Given the description of an element on the screen output the (x, y) to click on. 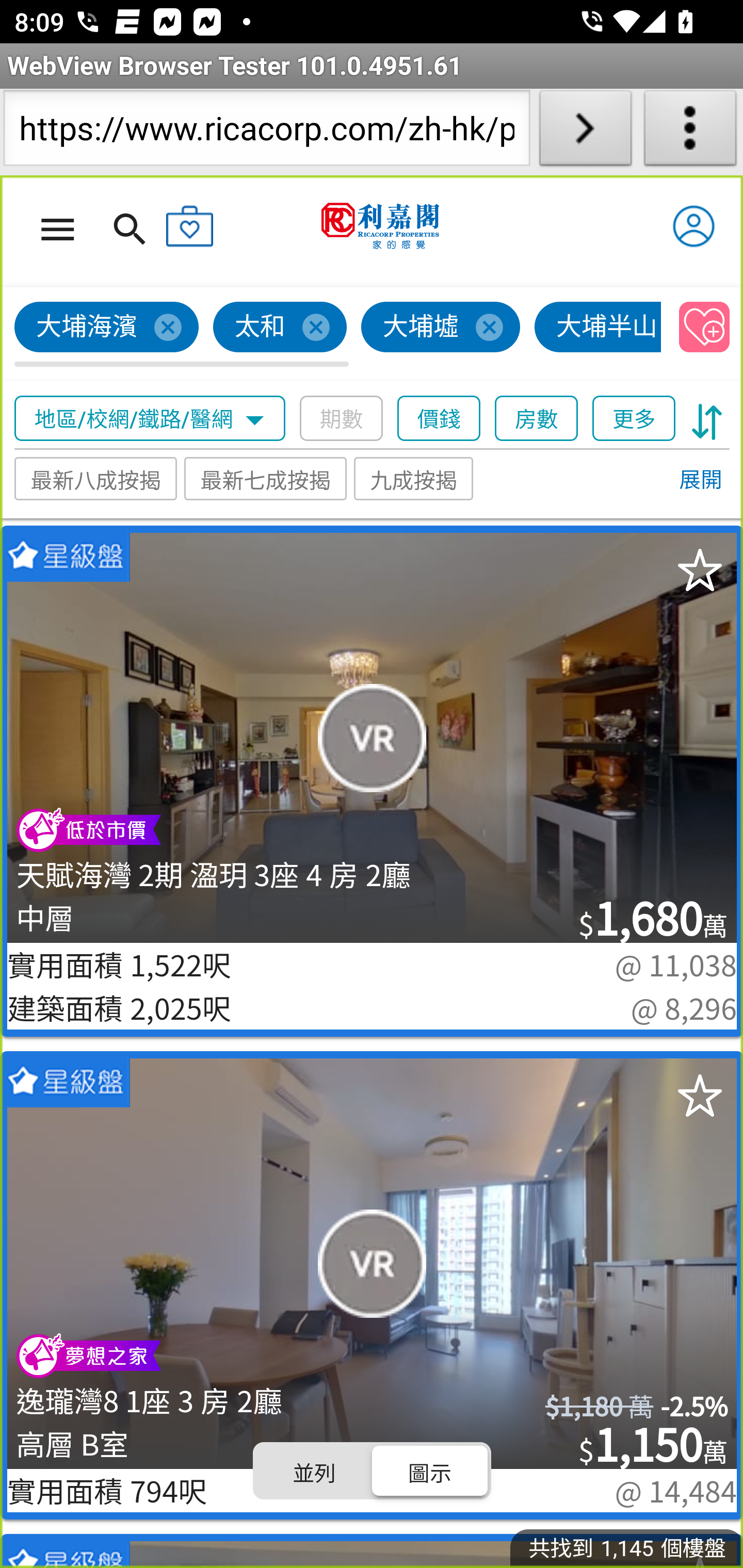
Load URL (585, 132)
About WebView (690, 132)
大埔海濱 (106, 327)
太和 (280, 327)
大埔墟 (441, 327)
大埔半山 (598, 327)
save (705, 327)
地區/校網/鐵路/醫網 (150, 418)
期數 (341, 418)
價錢 (439, 418)
房數 (536, 418)
更多 (634, 418)
sort (706, 418)
最新八成按揭 (96, 478)
最新七成按揭 (266, 478)
九成按揭 (413, 478)
展開 (699, 481)
並列 (314, 1470)
圖示 (429, 1470)
